Given the description of an element on the screen output the (x, y) to click on. 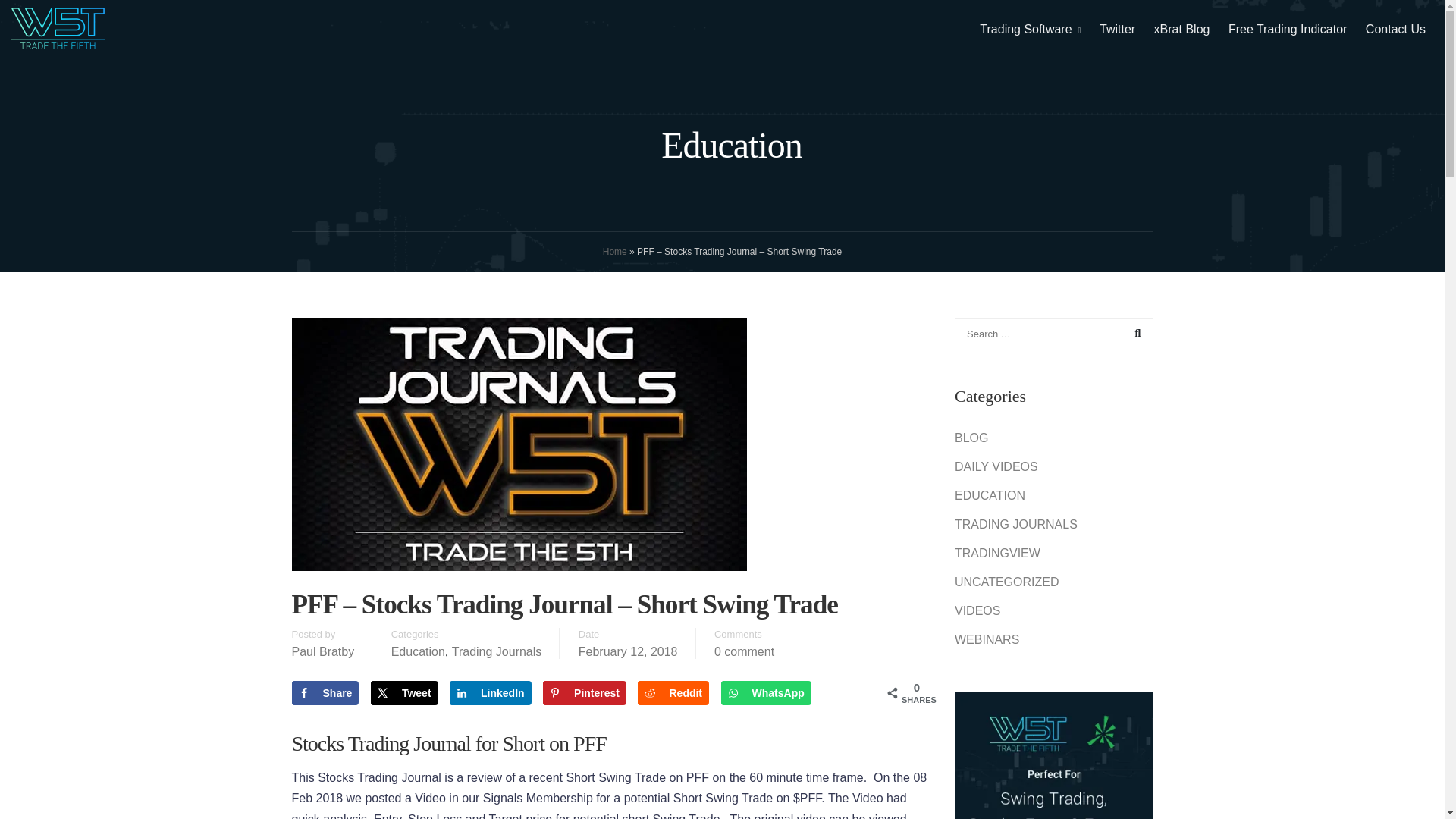
Home (614, 251)
Twitter (1117, 28)
Tweet (404, 692)
Share on X (404, 692)
Share (324, 692)
Contact Us (1395, 28)
Trading Software (1025, 28)
Search (1137, 333)
Paul Bratby (322, 652)
Free Trading Indicator (1288, 28)
xBrat Blog (1182, 28)
Search (1137, 333)
Trading Journals (496, 652)
Save to Pinterest (584, 692)
